Given the description of an element on the screen output the (x, y) to click on. 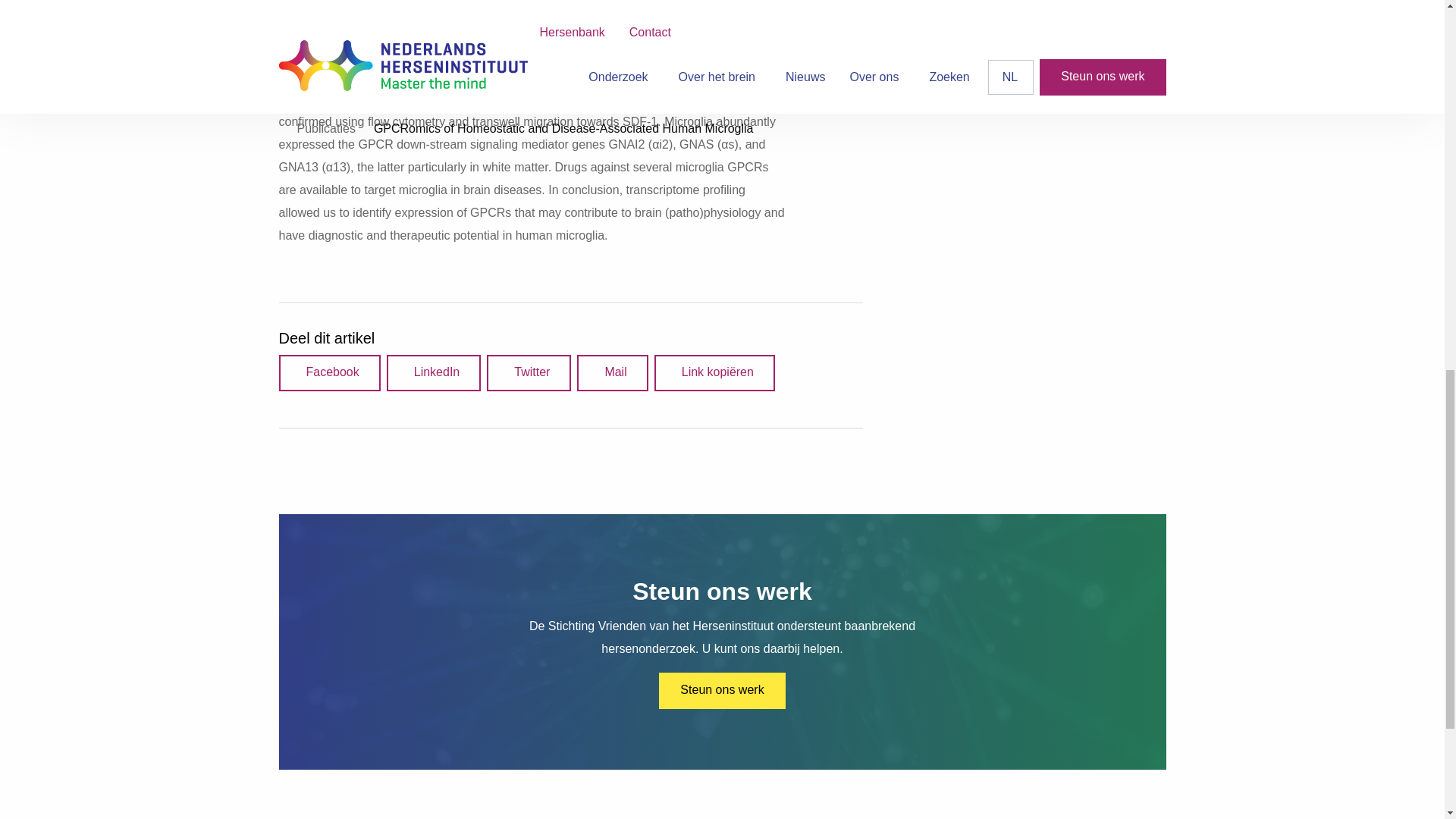
Share via mail (611, 372)
Share on LinkedIn (434, 372)
Share link (713, 372)
Tweet (528, 372)
Share on Facebook (329, 372)
